Given the description of an element on the screen output the (x, y) to click on. 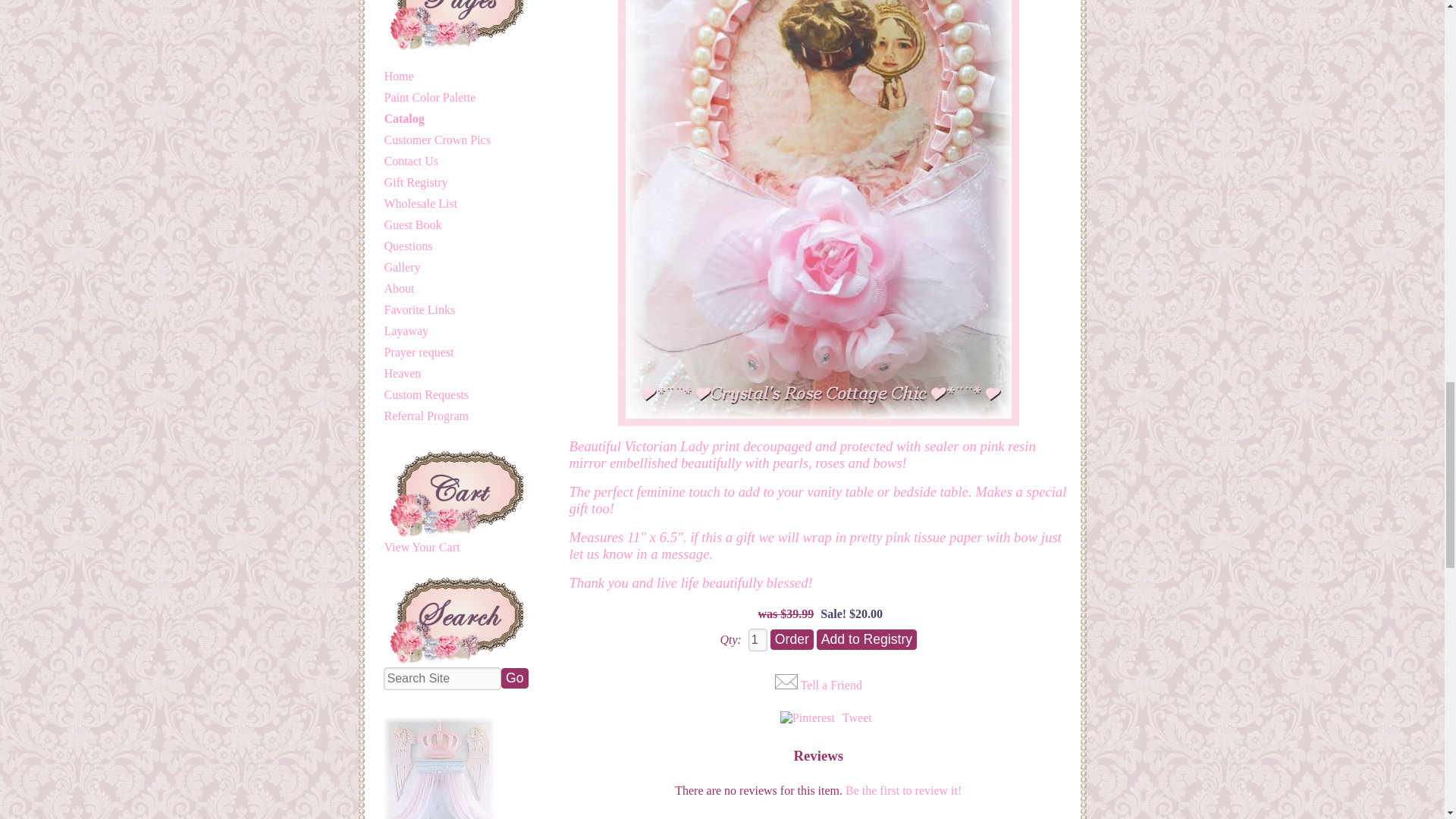
Go (513, 678)
shabby Chic pink rose wings with bella rose bed crown canopy (439, 768)
Pin It (807, 717)
Order (791, 639)
Add to Registry (866, 639)
